Given the description of an element on the screen output the (x, y) to click on. 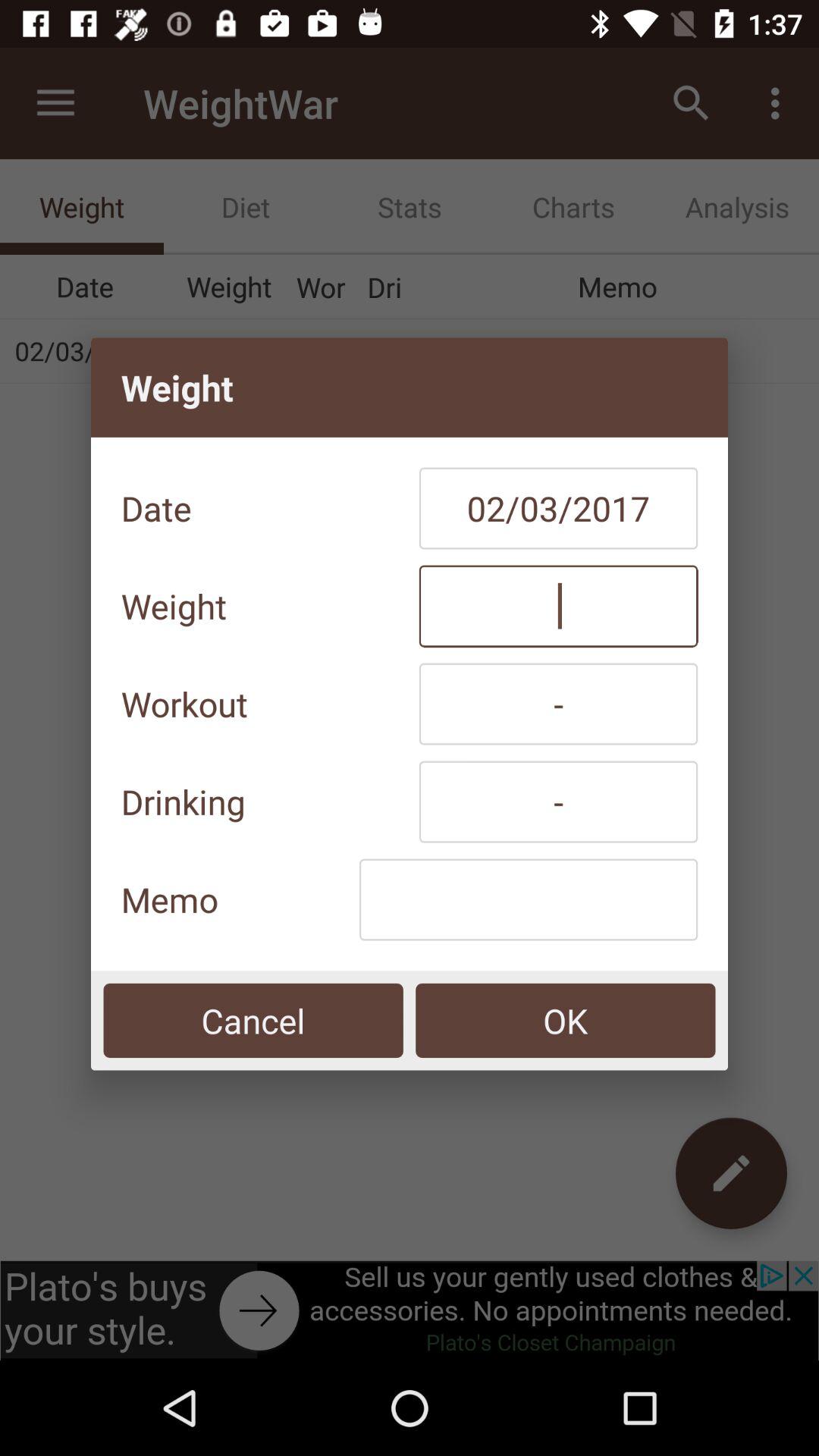
select icon to the right of the date (558, 508)
